Given the description of an element on the screen output the (x, y) to click on. 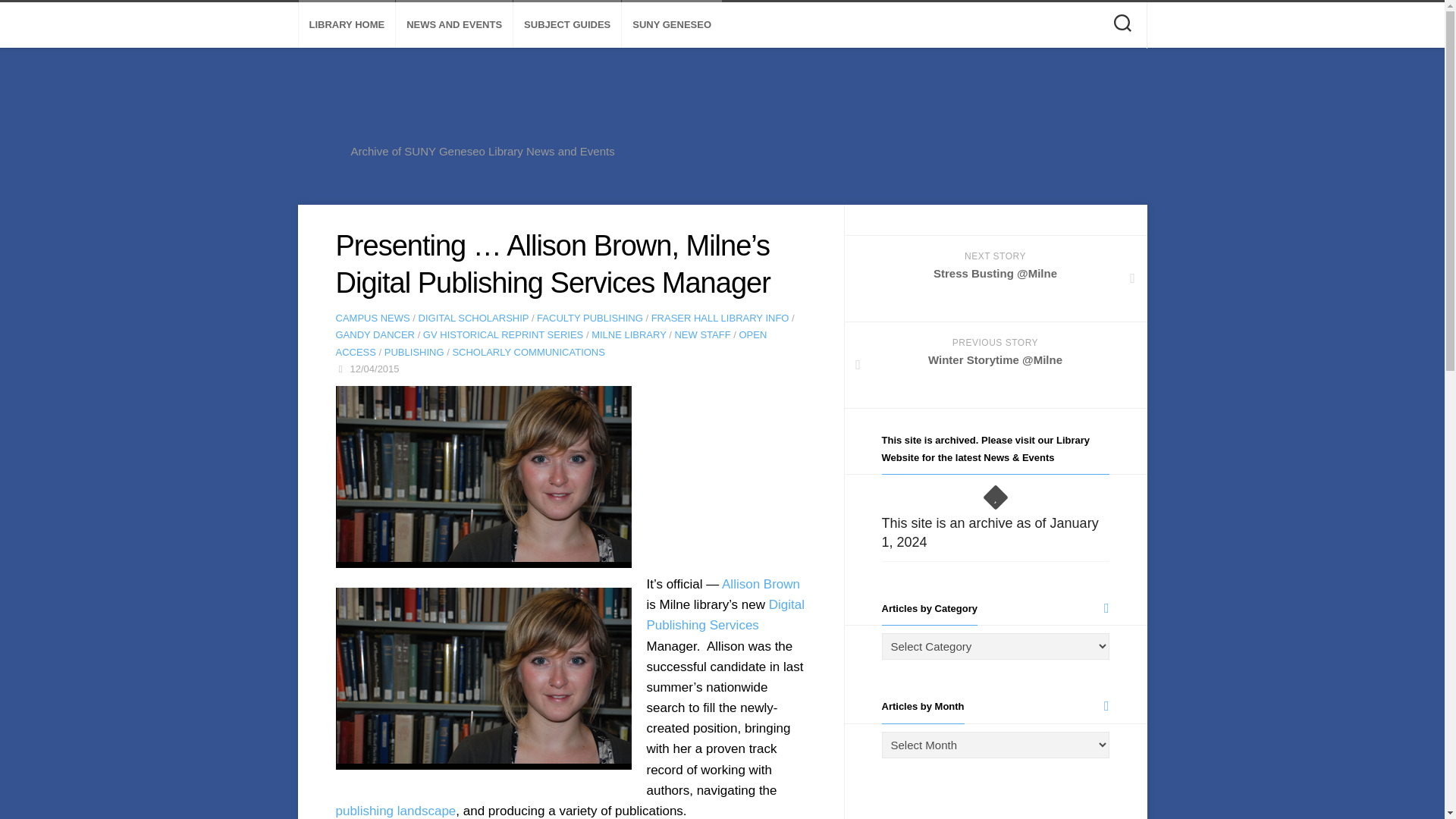
MILNE LIBRARY (628, 334)
DIGITAL SCHOLARSHIP (474, 317)
PUBLISHING (414, 351)
CAMPUS NEWS (371, 317)
publishing landscape (394, 810)
OPEN ACCESS (550, 343)
SUNY GENESEO (671, 24)
FRASER HALL LIBRARY INFO (719, 317)
GANDY DANCER (374, 334)
NEW STAFF (702, 334)
